Given the description of an element on the screen output the (x, y) to click on. 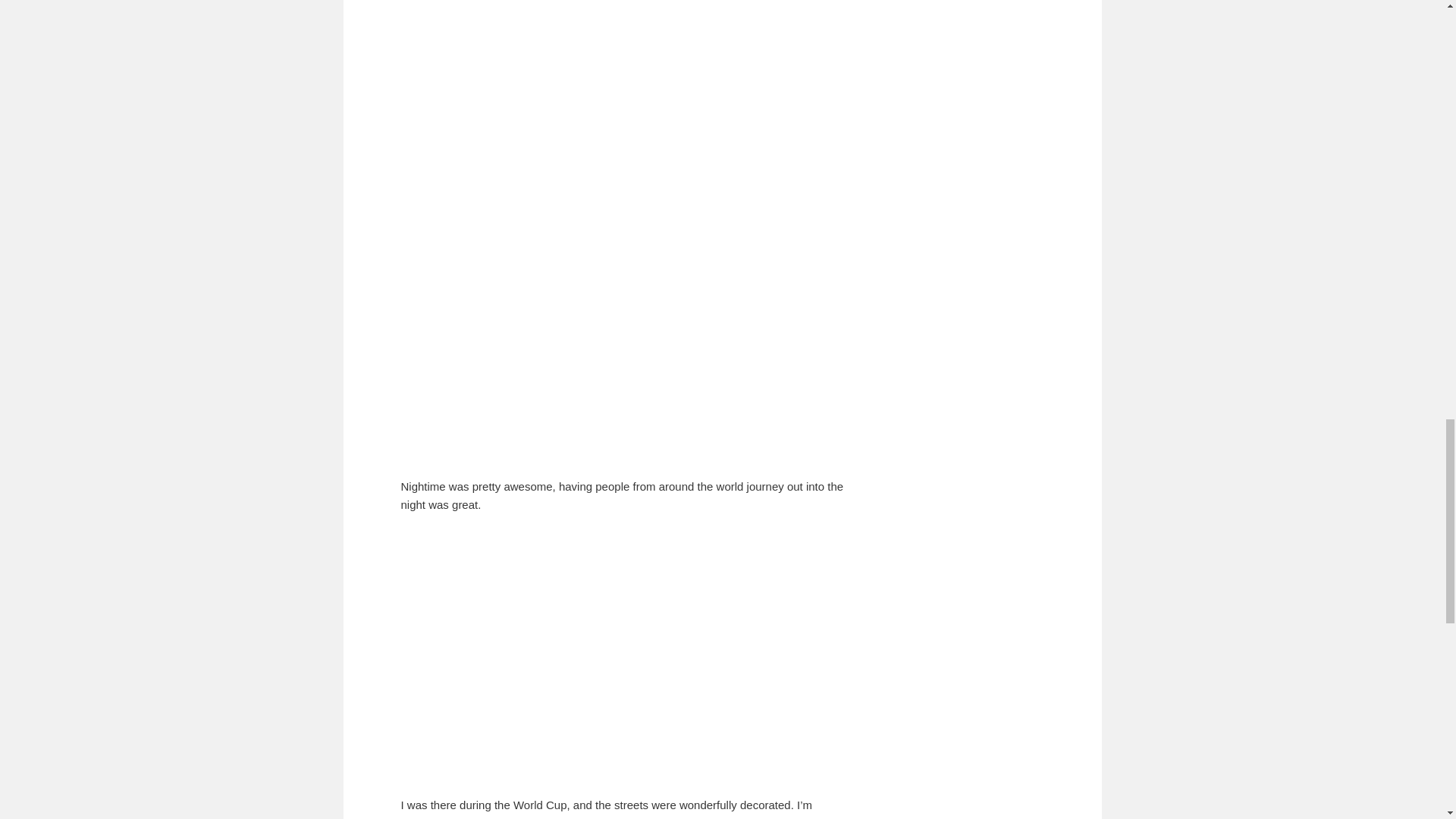
Java Road by stewartesmith, on Flickr (589, 179)
Hong Kong Street Market by stewartesmith, on Flickr (589, 449)
